Given the description of an element on the screen output the (x, y) to click on. 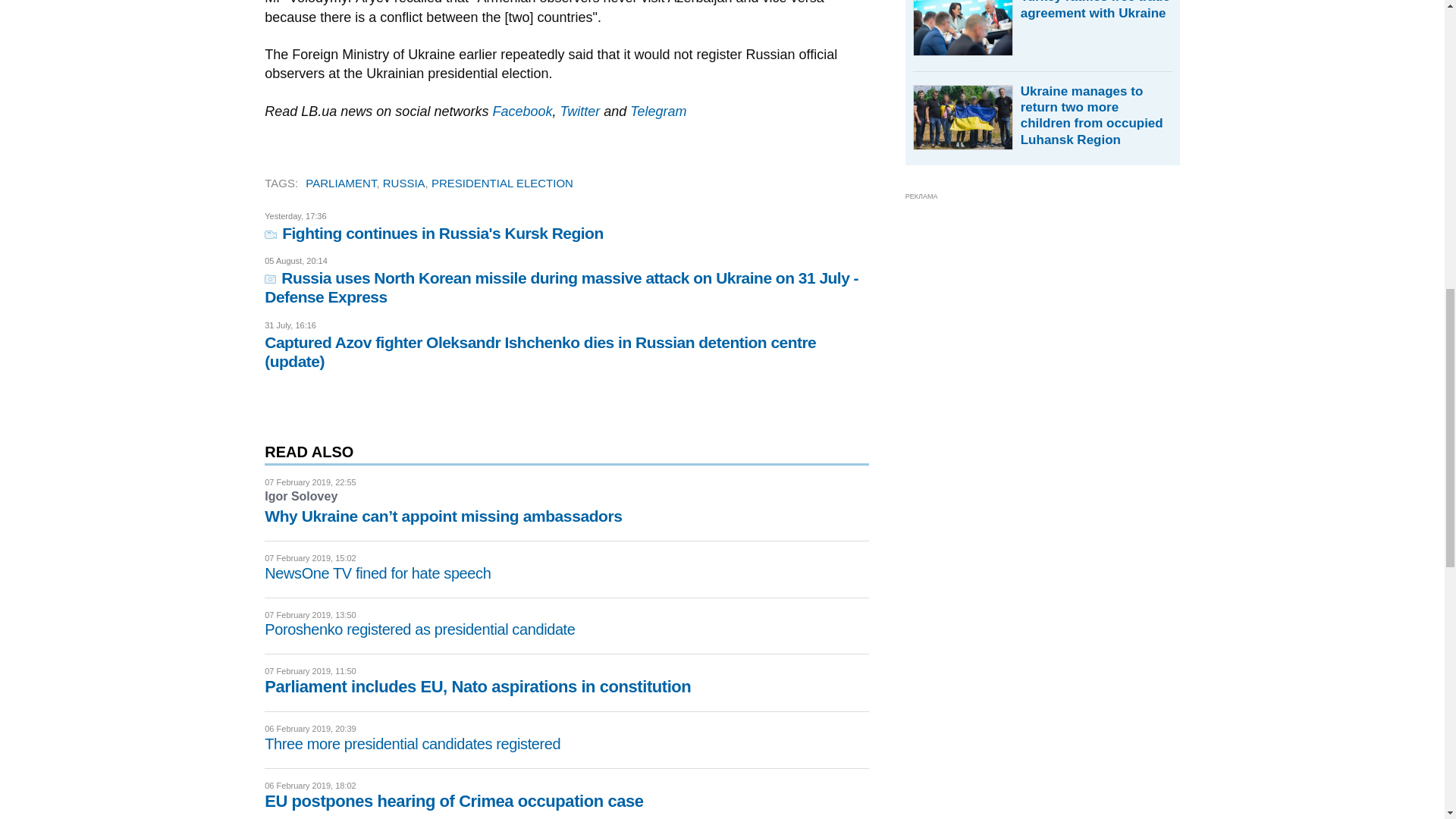
Telegram (657, 111)
Twitter (579, 111)
Poroshenko registered as presidential candidate (419, 629)
Parliament includes EU, Nato aspirations in constitution (477, 686)
EU postpones hearing of Crimea occupation case (453, 800)
RUSSIA (403, 182)
NewsOne TV fined for hate speech (377, 573)
PARLIAMENT (340, 182)
PRESIDENTIAL ELECTION (501, 182)
